Given the description of an element on the screen output the (x, y) to click on. 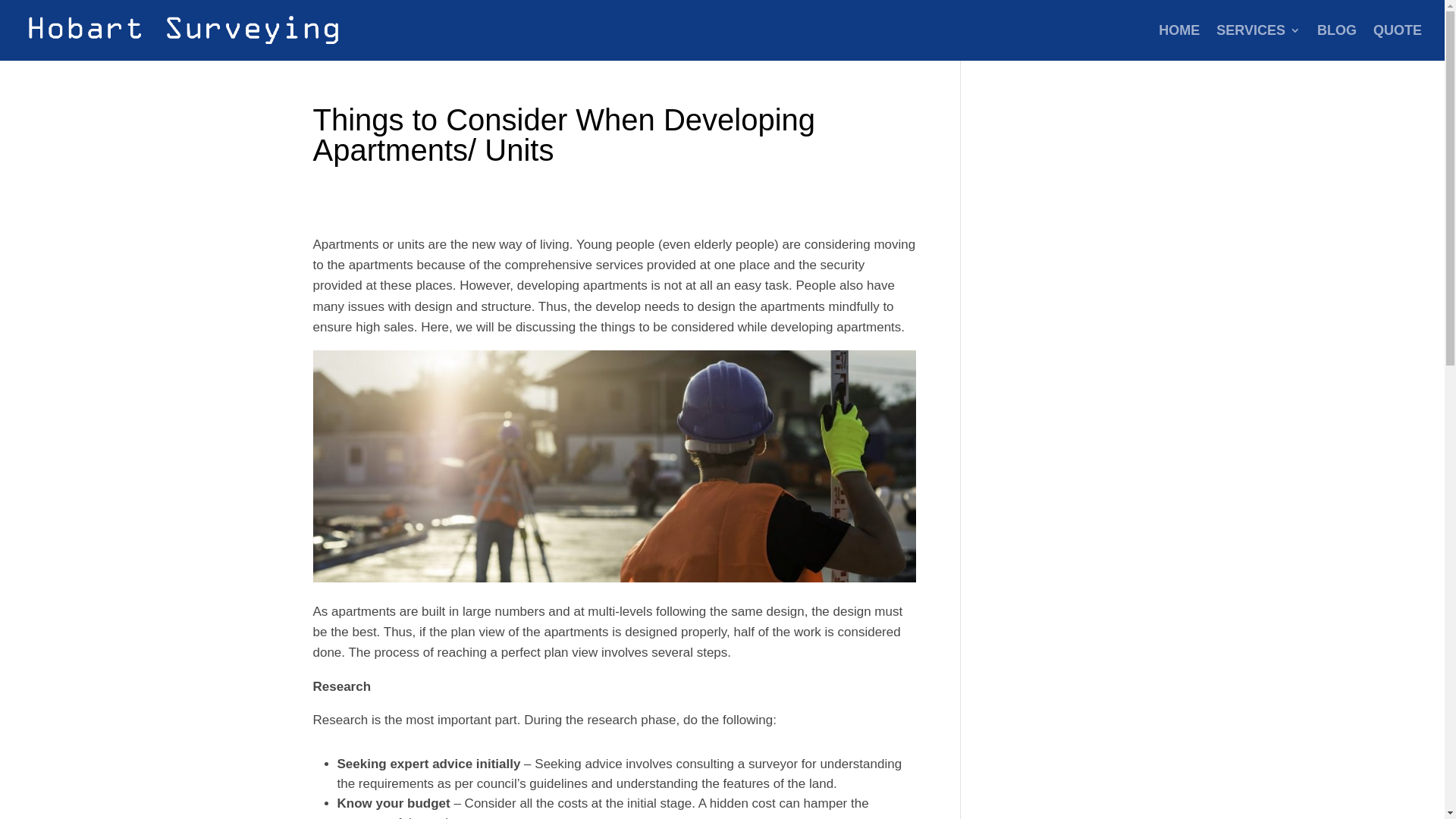
HOME Element type: text (1178, 42)
QUOTE Element type: text (1397, 42)
SERVICES Element type: text (1258, 42)
BLOG Element type: text (1336, 42)
